Given the description of an element on the screen output the (x, y) to click on. 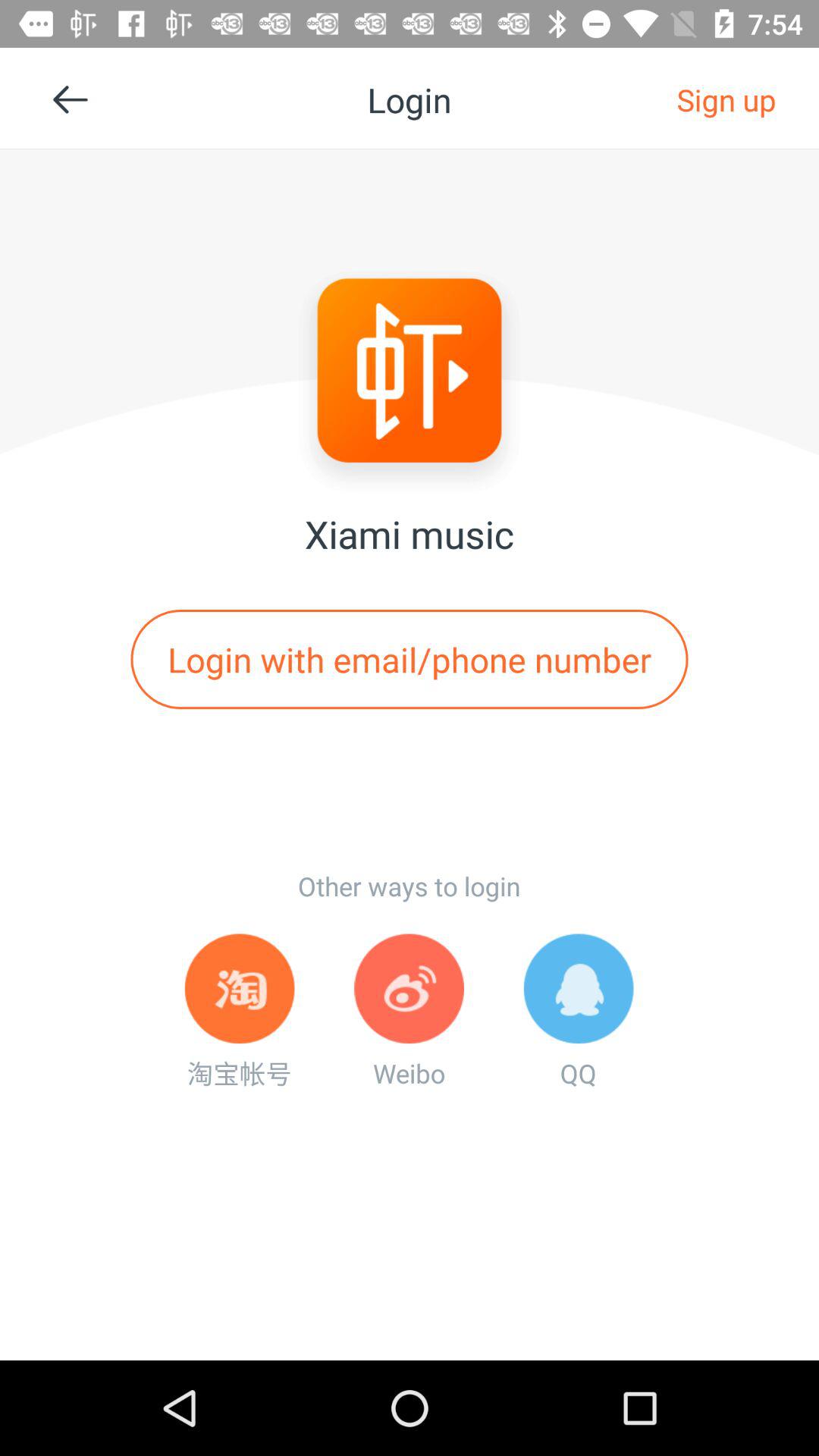
tap the qq item (578, 1011)
